Given the description of an element on the screen output the (x, y) to click on. 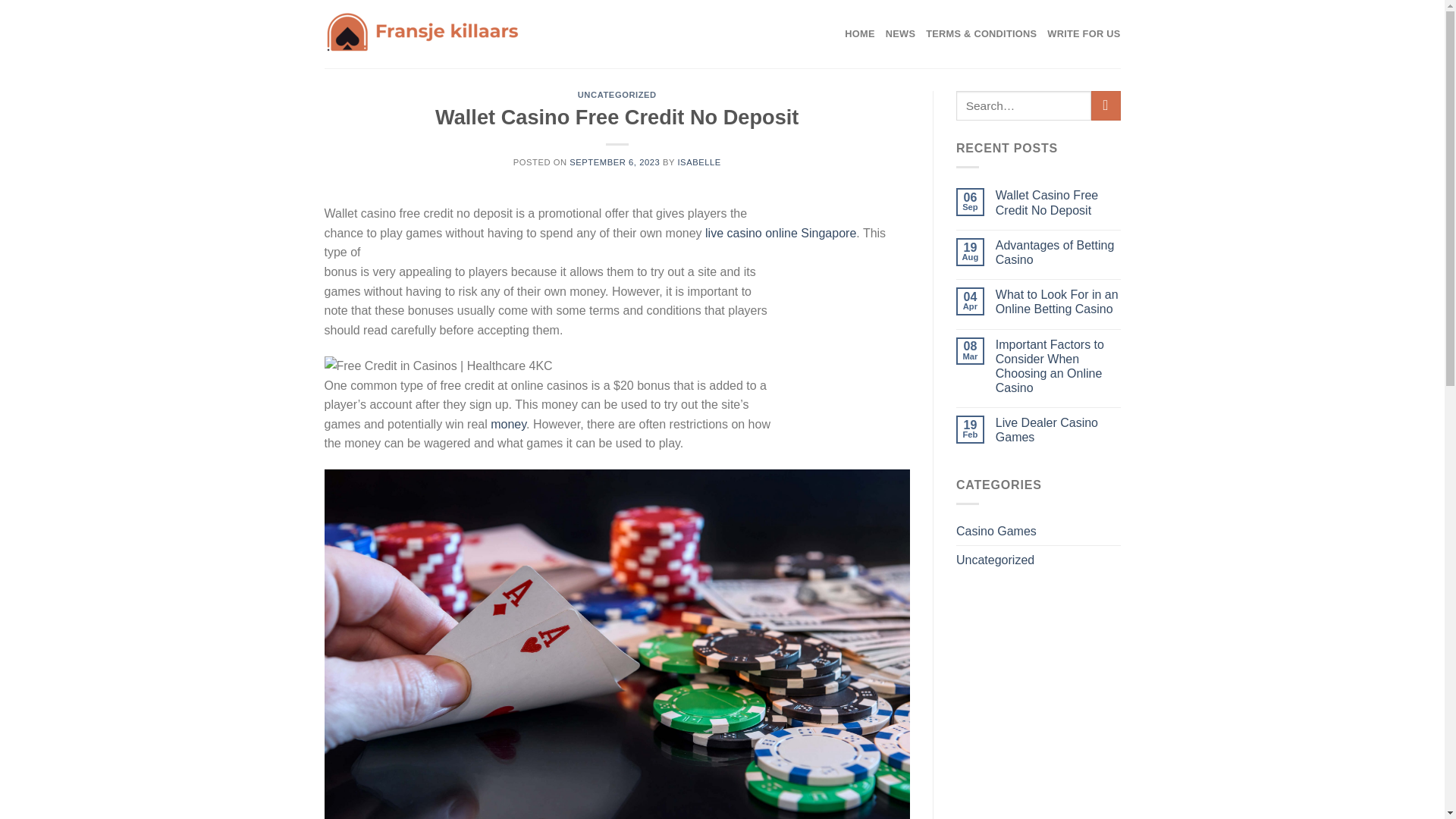
NEWS (900, 33)
Live Dealer Casino Games (1058, 429)
Important Factors to Consider When Choosing an Online Casino (1058, 365)
Wallet Casino Free Credit No Deposit (1058, 202)
UNCATEGORIZED (617, 94)
What to Look For in an Online Betting Casino (1058, 301)
Fransje Killaars - Make Money Under One Roof (432, 33)
live casino online Singapore (780, 232)
HOME (859, 33)
Wallet Casino Free Credit No Deposit (1058, 202)
SEPTEMBER 6, 2023 (614, 162)
ISABELLE (698, 162)
Casino Games (996, 531)
Important Factors to Consider When Choosing an Online Casino (1058, 365)
What to Look For in an Online Betting Casino (1058, 301)
